Given the description of an element on the screen output the (x, y) to click on. 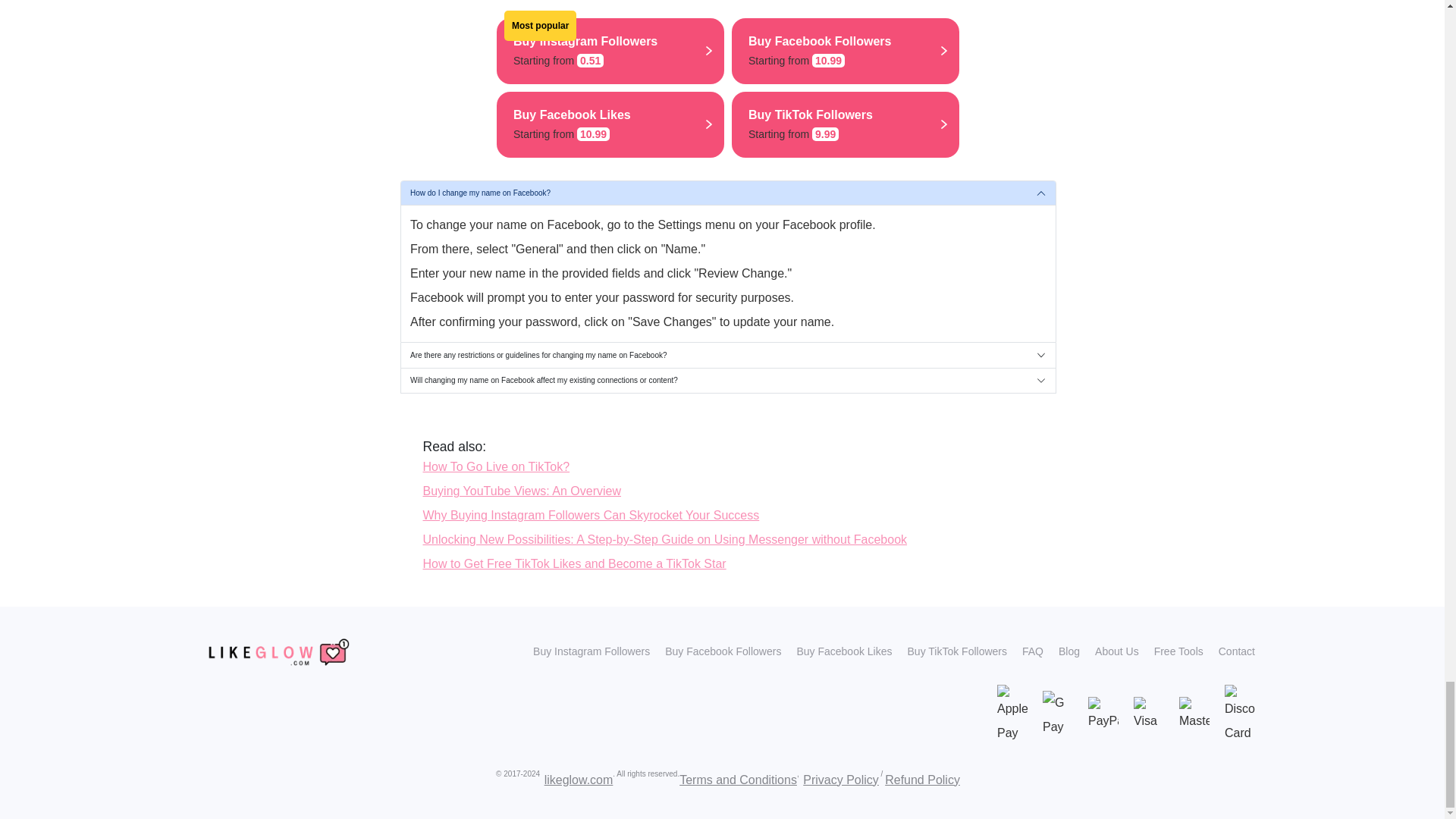
How to Get Free TikTok Likes and Become a TikTok Star  (574, 563)
Why Buying Instagram Followers Can Skyrocket Your Success  (591, 514)
How To Go Live on TikTok?  (845, 51)
Buying YouTube Views: An Overview  (496, 466)
How To Go Live on TikTok? (522, 490)
How do I change my name on Facebook? (496, 466)
